Given the description of an element on the screen output the (x, y) to click on. 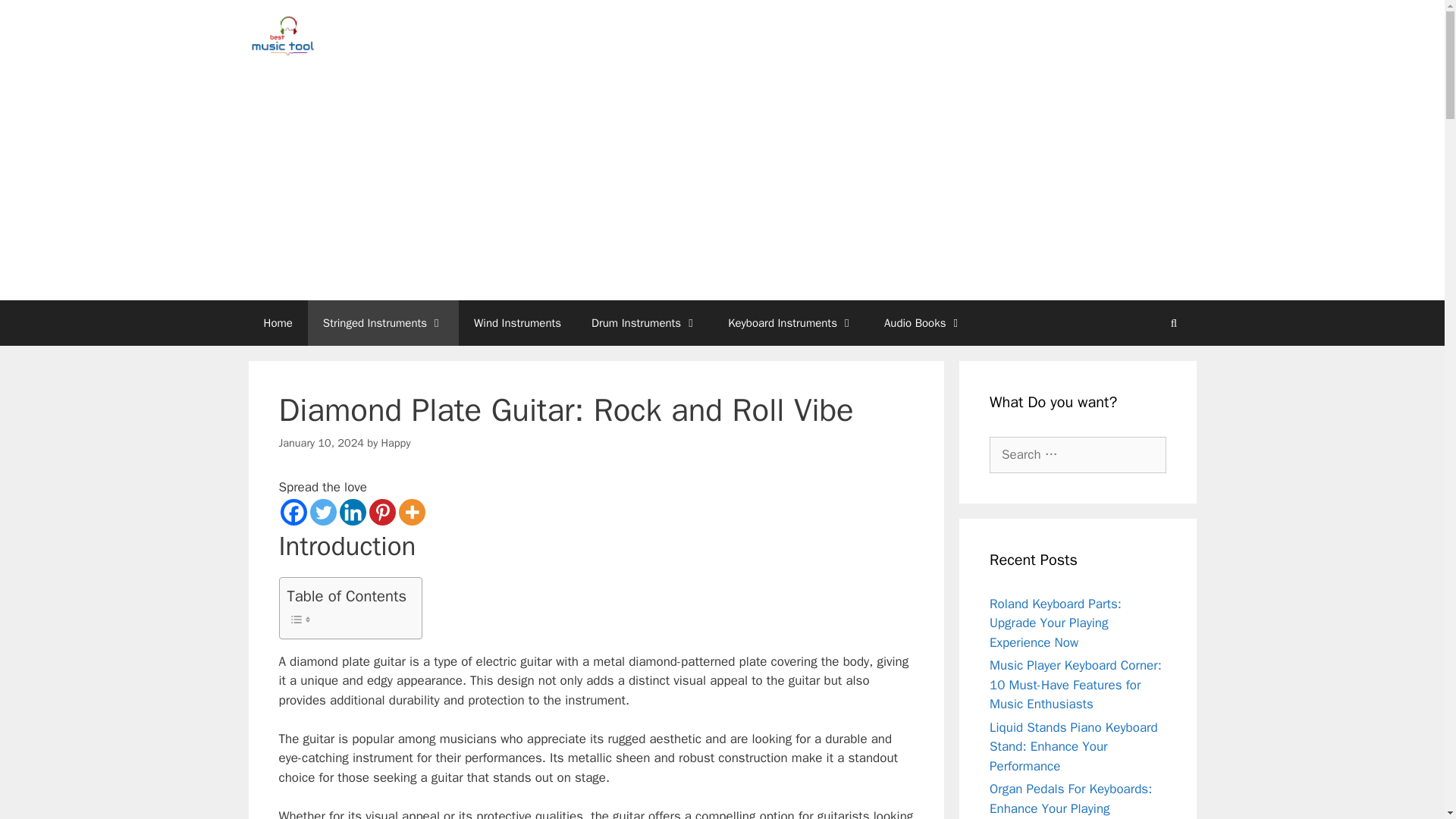
View all posts by Happy (395, 442)
Linkedin (352, 511)
Stringed Instruments (382, 322)
Facebook (294, 511)
Pinterest (381, 511)
More (411, 511)
Twitter (322, 511)
Home (277, 322)
